Given the description of an element on the screen output the (x, y) to click on. 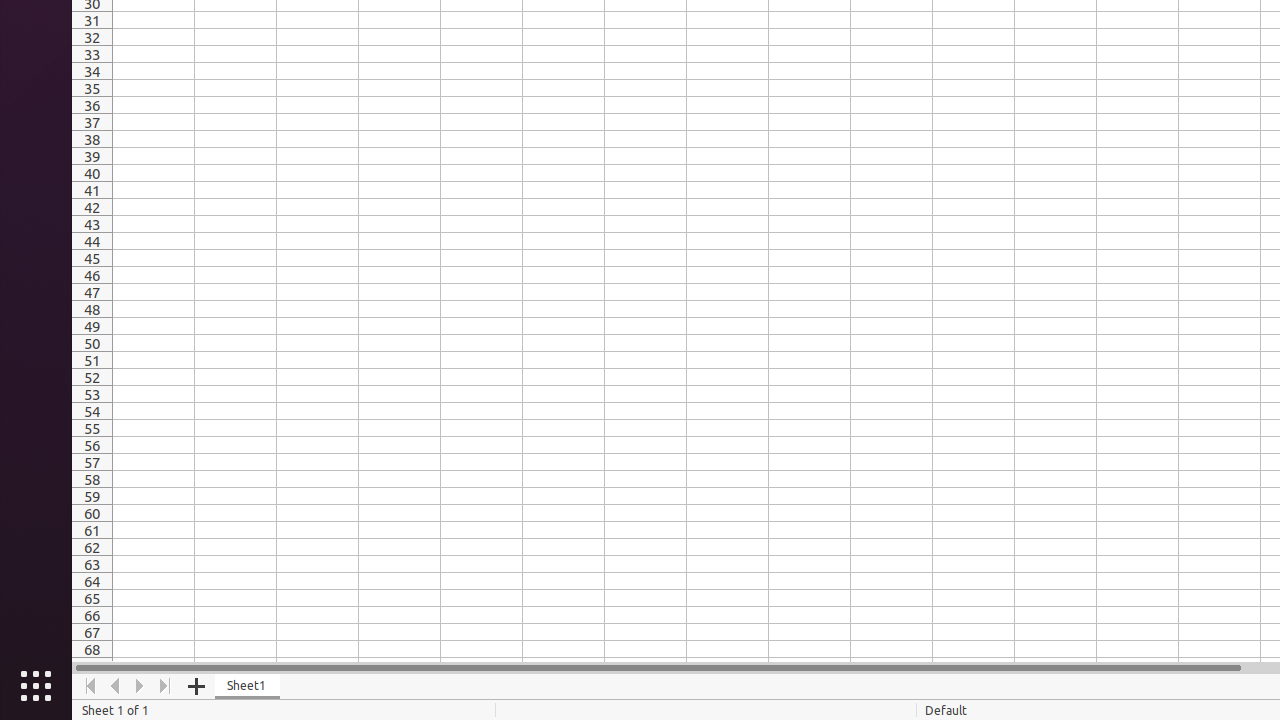
Move To End Element type: push-button (165, 686)
